Given the description of an element on the screen output the (x, y) to click on. 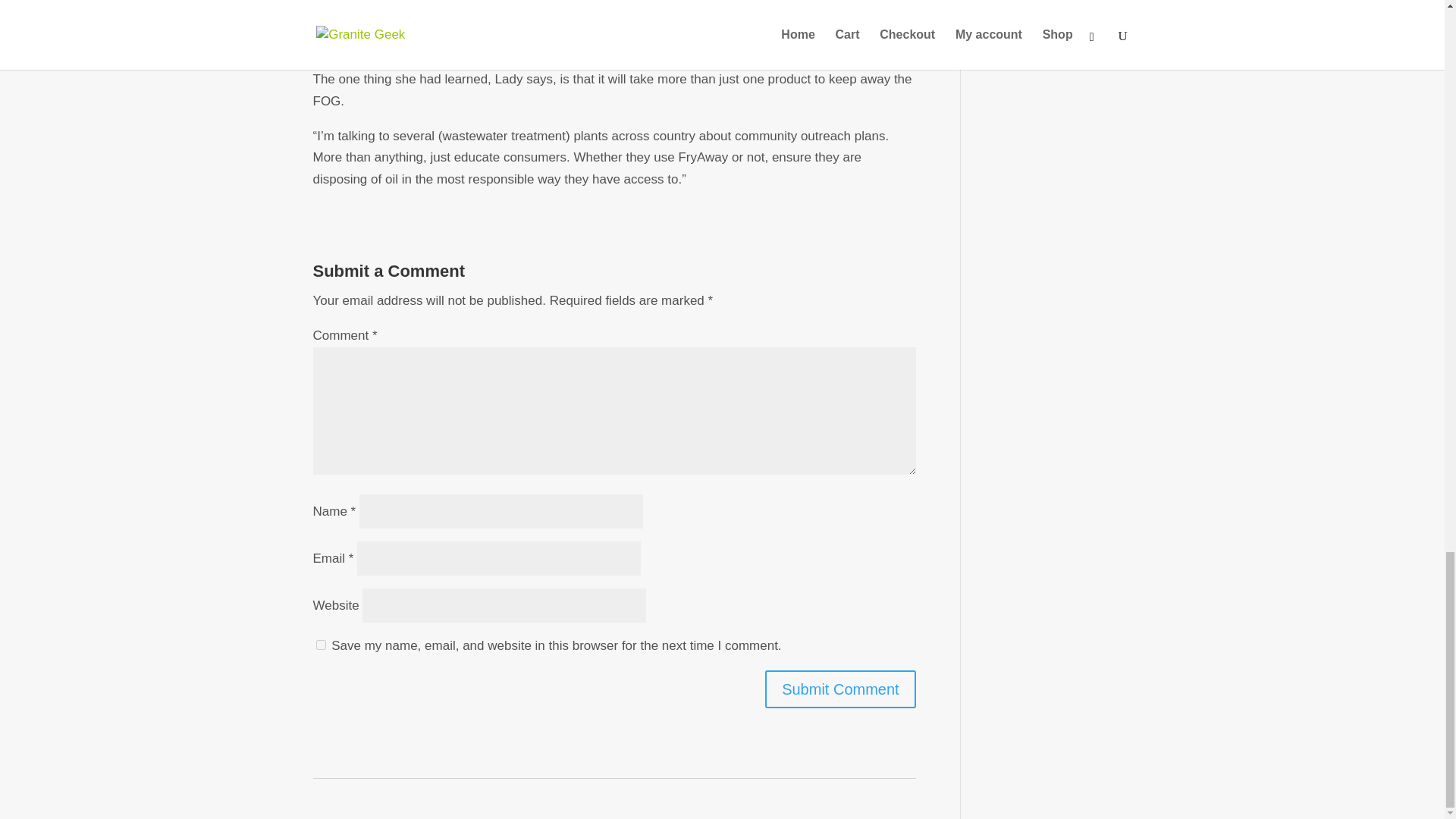
Submit Comment (840, 689)
yes (319, 644)
Submit Comment (840, 689)
